Given the description of an element on the screen output the (x, y) to click on. 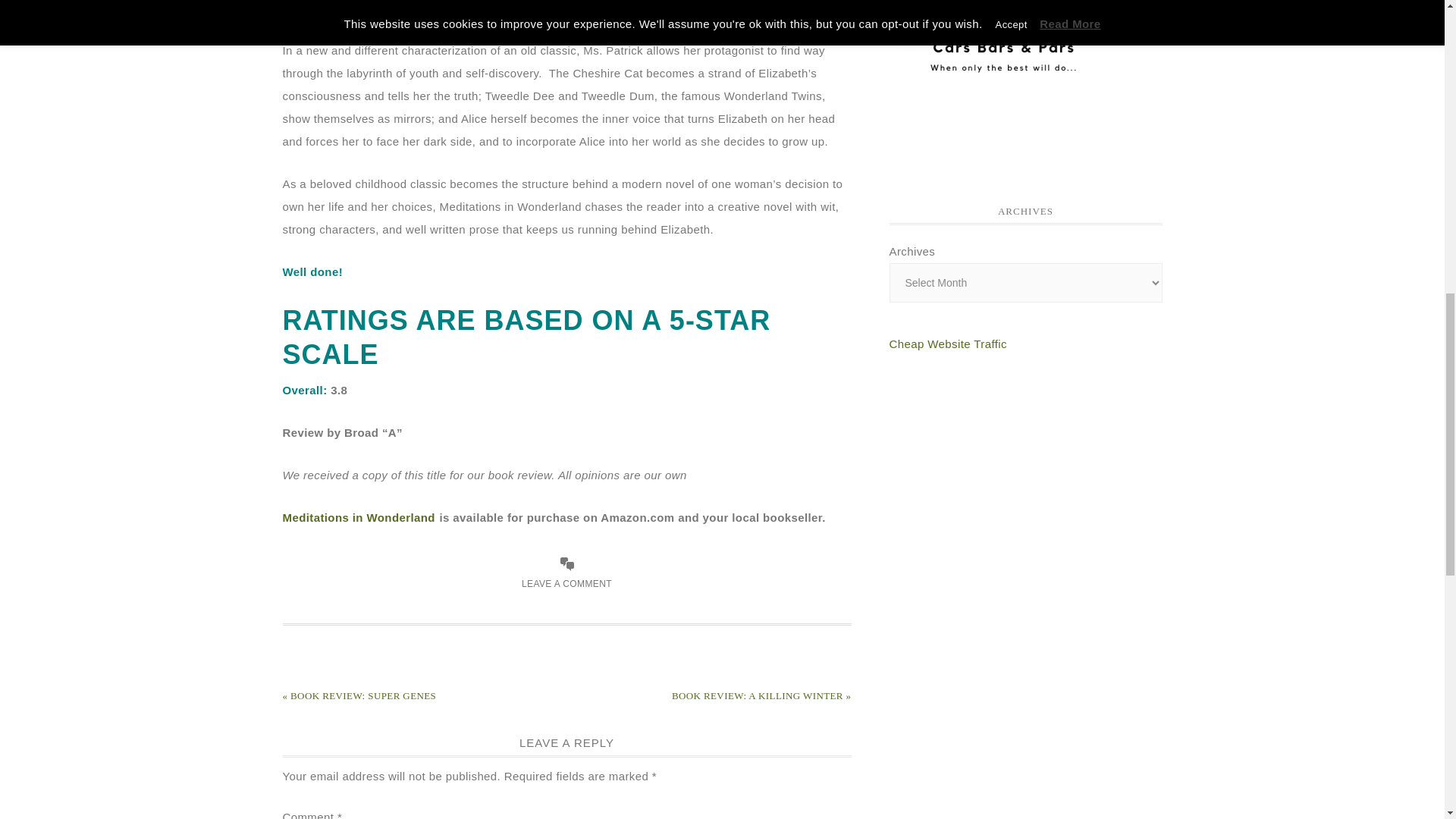
LEAVE A COMMENT (566, 583)
Cheap Website Traffic (947, 343)
Meditations in Wonderland (357, 517)
